Given the description of an element on the screen output the (x, y) to click on. 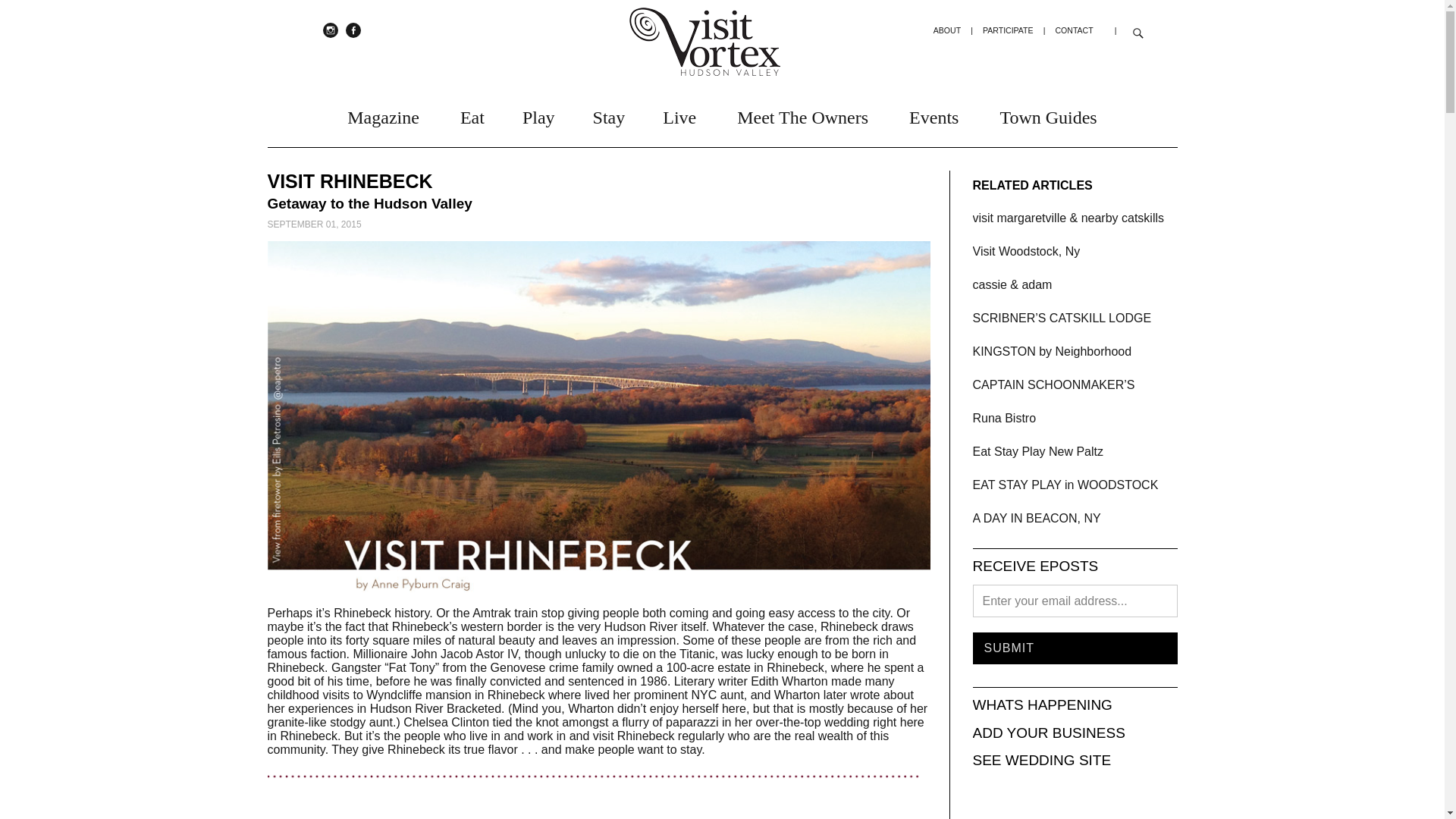
Stay (609, 114)
Magazine (383, 114)
CONTACT (1073, 30)
facebook (353, 29)
Events (933, 114)
Meet The Owners (801, 114)
Woodstock NY (1064, 484)
Upstate NY Towns (1037, 451)
instagram (330, 29)
Live (678, 114)
Local Wedding (1011, 284)
instagram (330, 29)
Play (538, 114)
Facebook (353, 29)
ABOUT (946, 30)
